Given the description of an element on the screen output the (x, y) to click on. 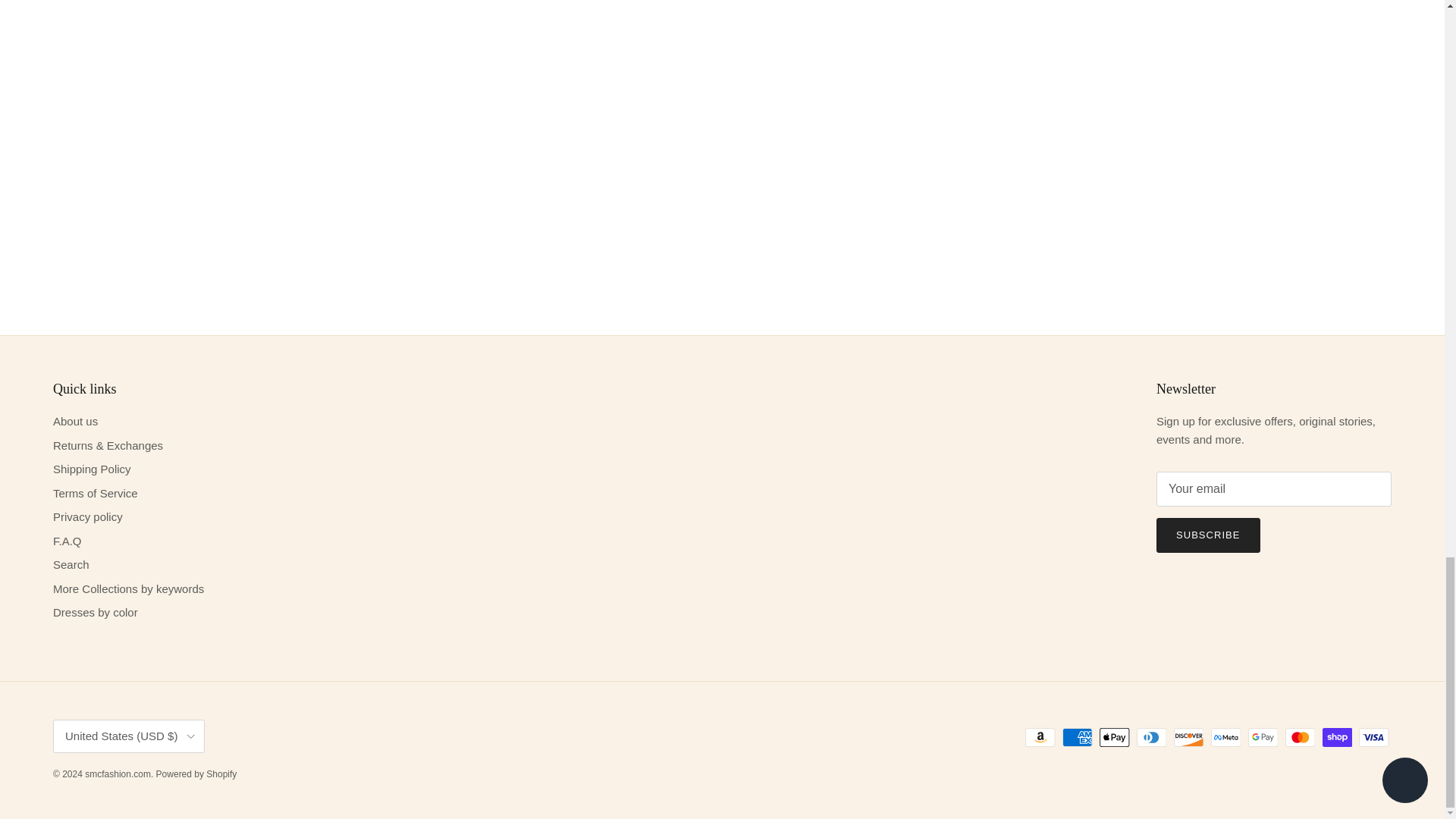
Visa (1373, 737)
Discover (1188, 737)
Mastercard (1299, 737)
Apple Pay (1114, 737)
Amazon (1040, 737)
Meta Pay (1225, 737)
Shop Pay (1337, 737)
American Express (1077, 737)
Google Pay (1262, 737)
Diners Club (1151, 737)
